Given the description of an element on the screen output the (x, y) to click on. 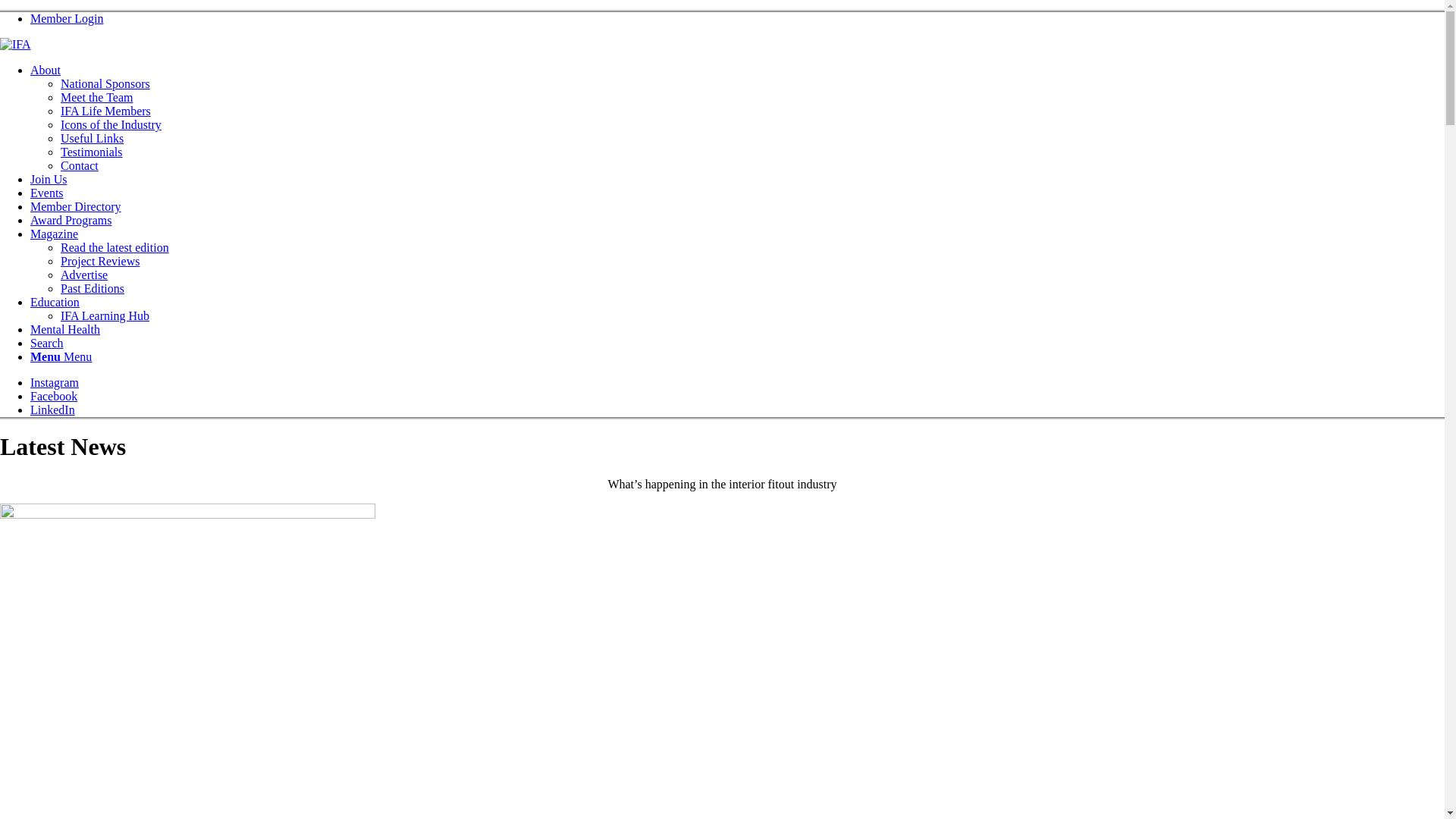
Project Reviews Element type: text (99, 260)
Instagram Element type: text (54, 382)
Past Editions Element type: text (92, 288)
Icons of the Industry Element type: text (110, 124)
Award Programs Element type: text (70, 219)
Advertise Element type: text (83, 274)
IFA Life Members Element type: text (105, 110)
LinkedIn Element type: text (52, 409)
IFA Learning Hub Element type: text (104, 315)
Mental Health Element type: text (65, 329)
Events Element type: text (46, 192)
Useful Links Element type: text (91, 137)
Meet the Team Element type: text (96, 97)
Sutherland Shire to get a new shopping centre Element type: hover (187, 514)
Testimonials Element type: text (91, 151)
National Sponsors Element type: text (105, 83)
Facebook Element type: text (53, 395)
Read the latest edition Element type: text (114, 247)
Member Login Element type: text (66, 18)
Education Element type: text (54, 301)
Menu Menu Element type: text (60, 356)
About Element type: text (45, 69)
Search Element type: text (46, 342)
Join Us Element type: text (48, 178)
Magazine Element type: text (54, 233)
Contact Element type: text (79, 165)
Member Directory Element type: text (75, 206)
